Given the description of an element on the screen output the (x, y) to click on. 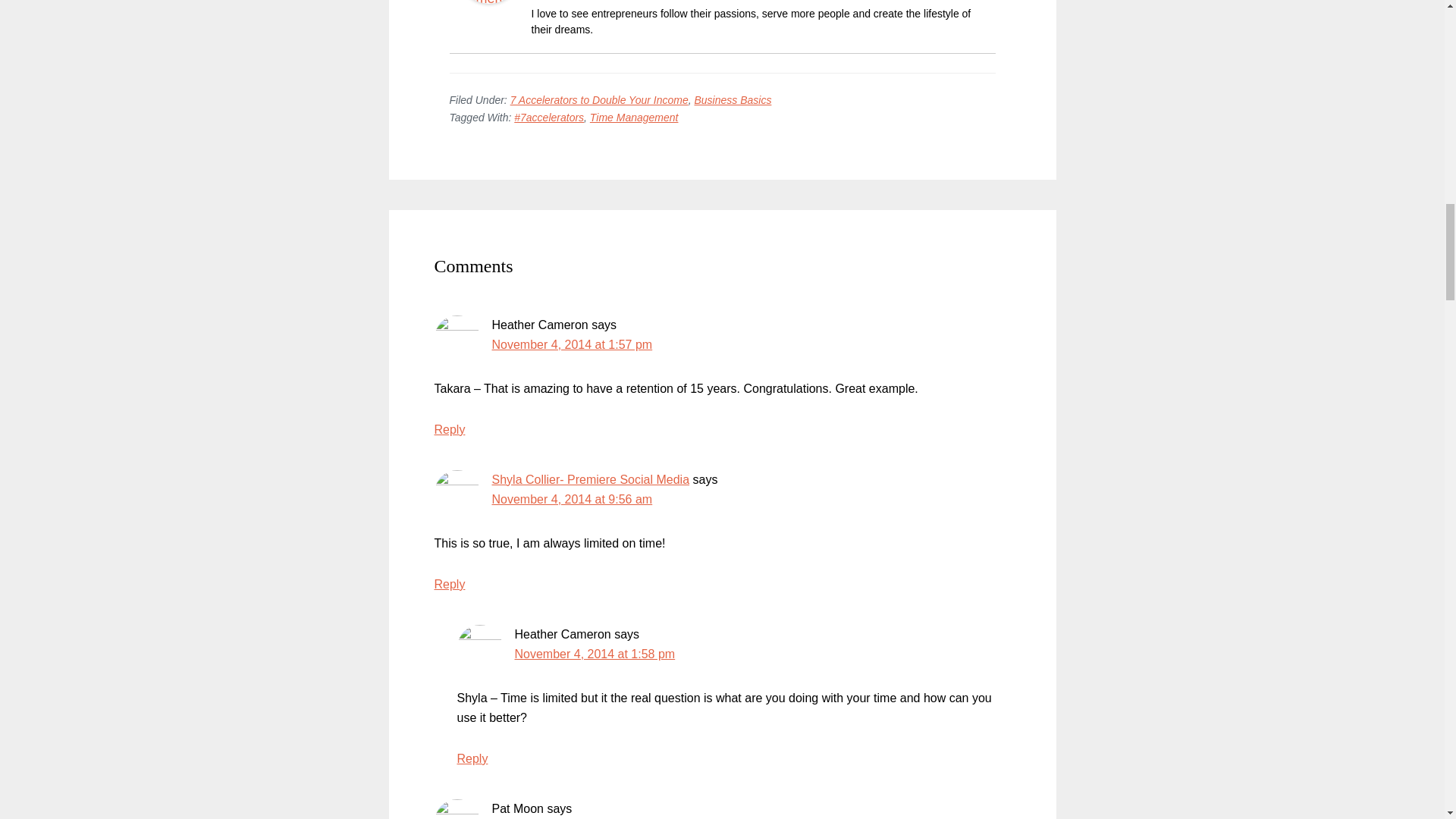
Reply (448, 429)
November 4, 2014 at 1:57 pm (572, 344)
Reply (472, 758)
Shyla Collier- Premiere Social Media (590, 479)
November 4, 2014 at 1:58 pm (594, 653)
Business Basics (732, 100)
7 Accelerators to Double Your Income (599, 100)
November 4, 2014 at 9:56 am (572, 499)
Reply (448, 584)
Time Management (633, 117)
